Given the description of an element on the screen output the (x, y) to click on. 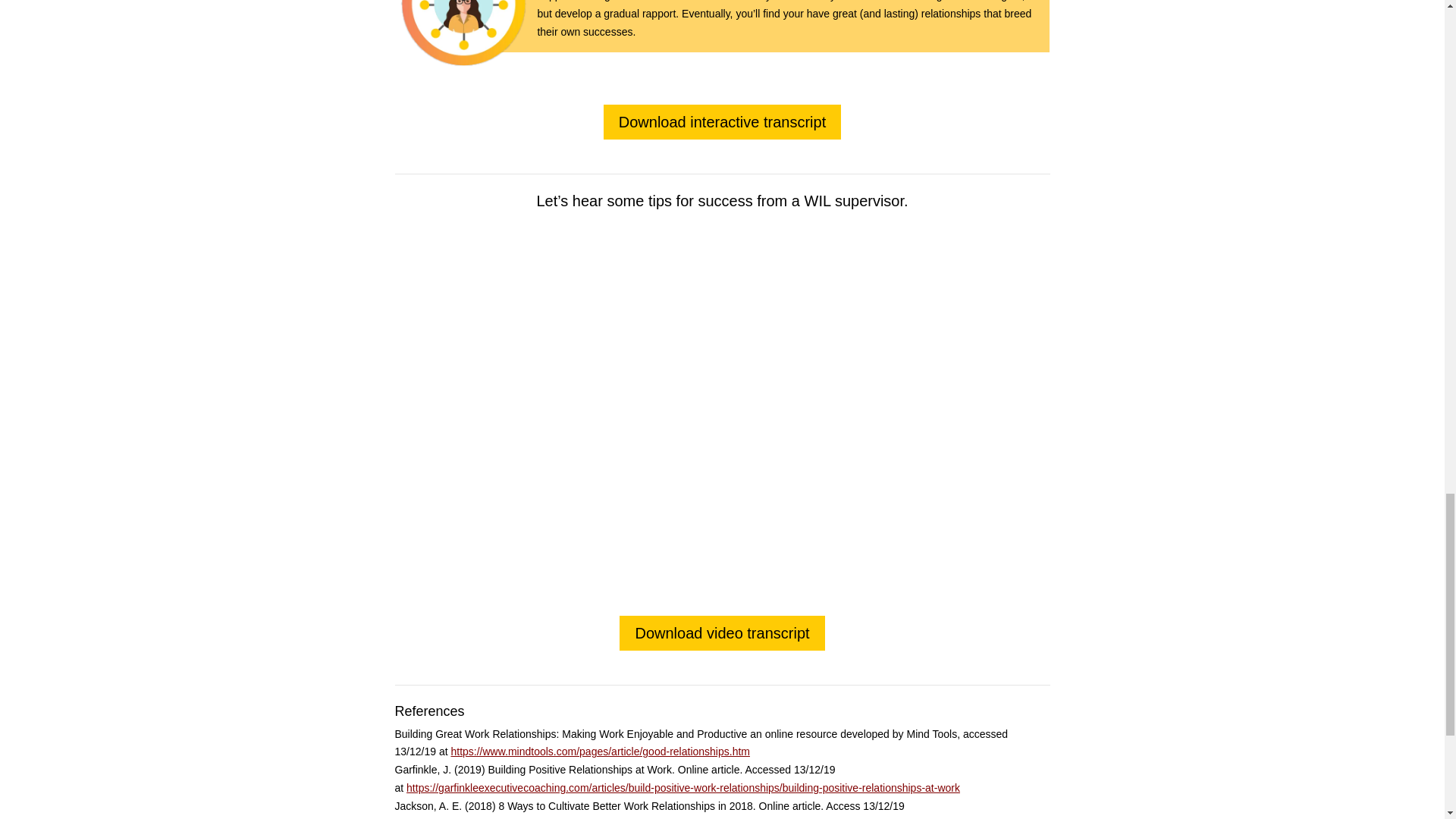
Download interactive transcript (722, 121)
Download video transcript (722, 632)
